Given the description of an element on the screen output the (x, y) to click on. 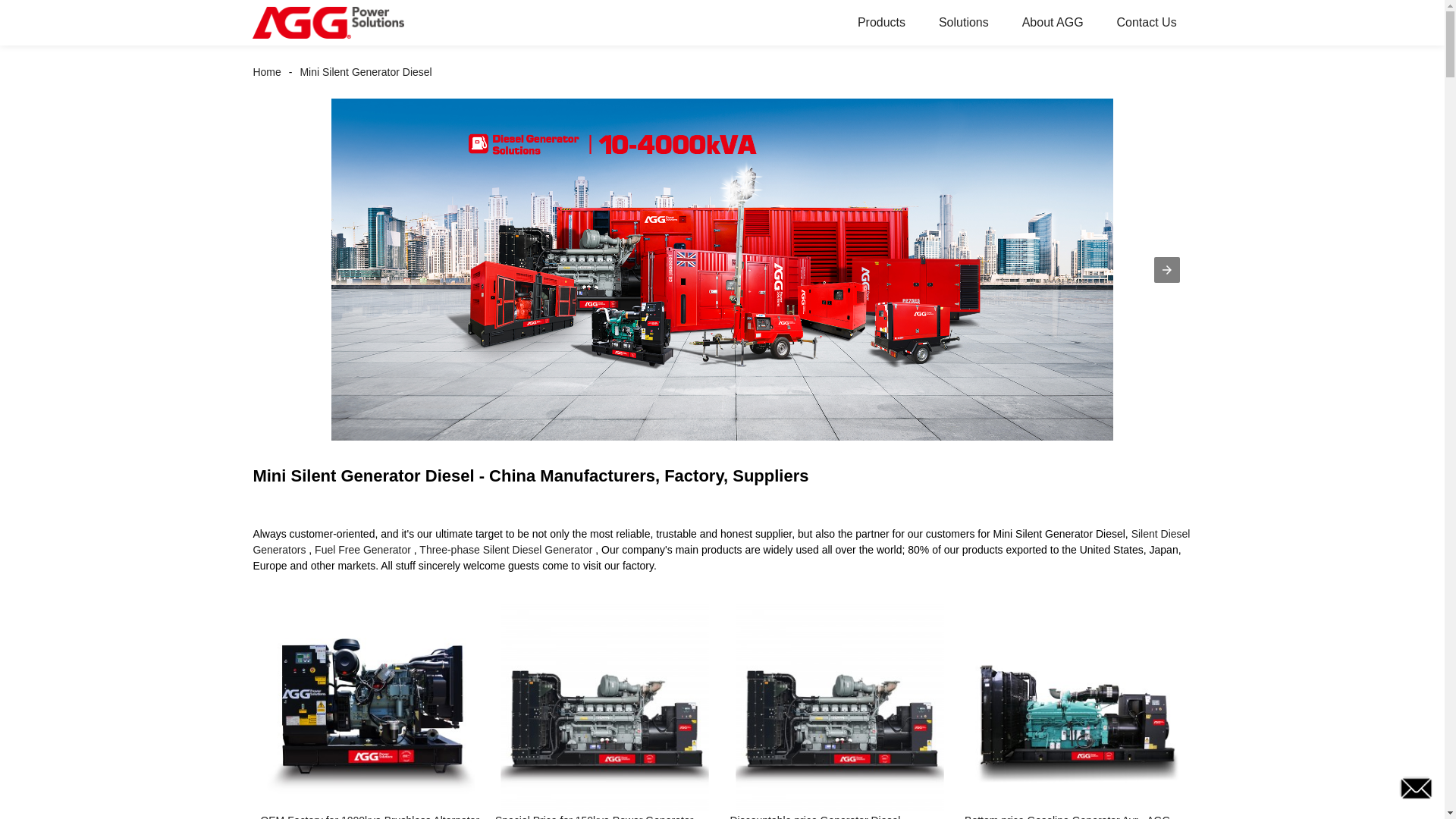
Products (881, 22)
Silent Diesel Generators (720, 541)
About AGG (1053, 22)
Fuel Free Generator (362, 549)
Three-phase Silent Diesel Generator (505, 549)
Solutions (963, 22)
